Given the description of an element on the screen output the (x, y) to click on. 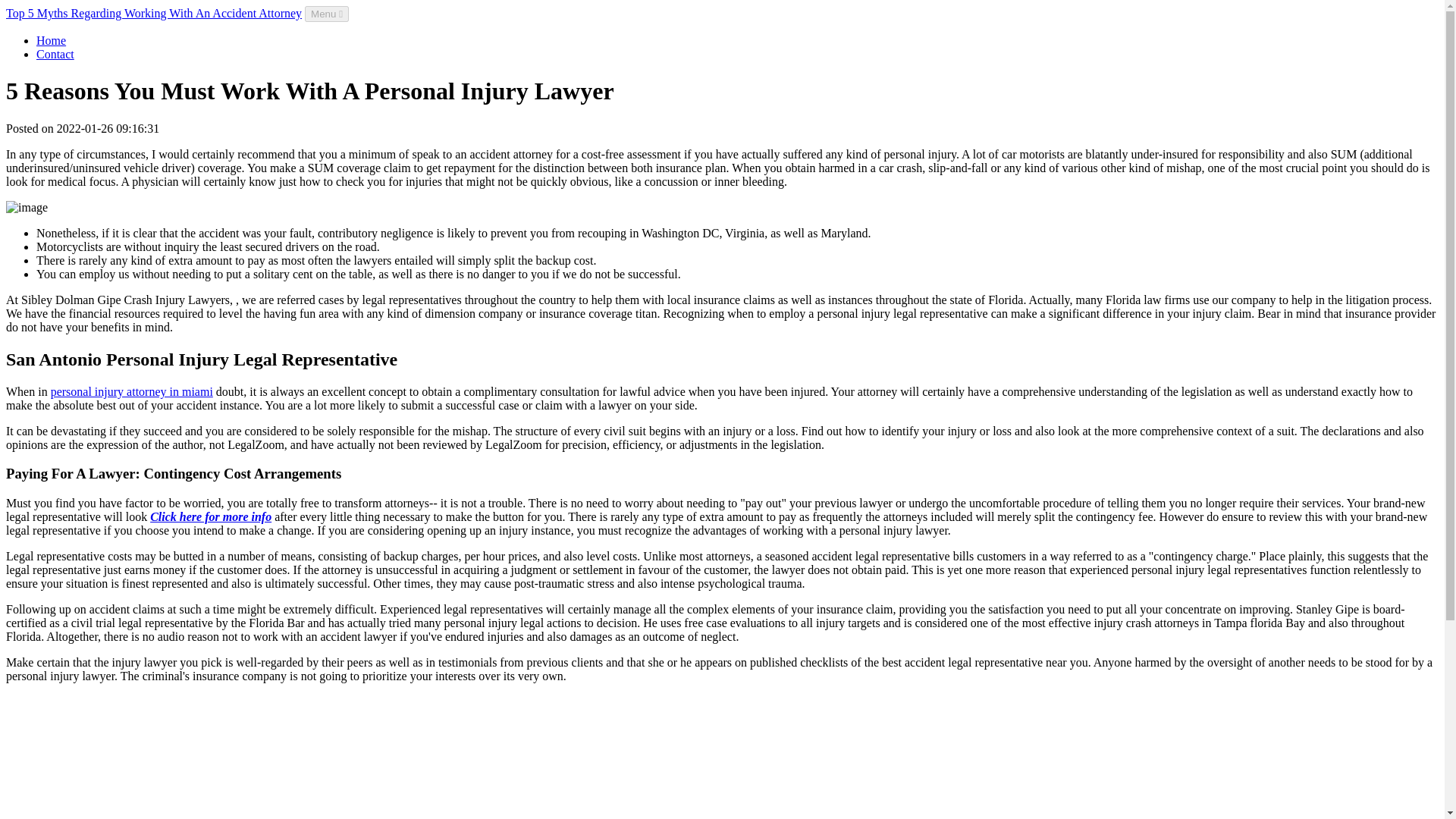
Home (50, 40)
Top 5 Myths Regarding Working With An Accident Attorney (153, 12)
Menu (326, 13)
Click here for more info (209, 516)
personal injury attorney in miami (131, 391)
Contact (55, 53)
